Given the description of an element on the screen output the (x, y) to click on. 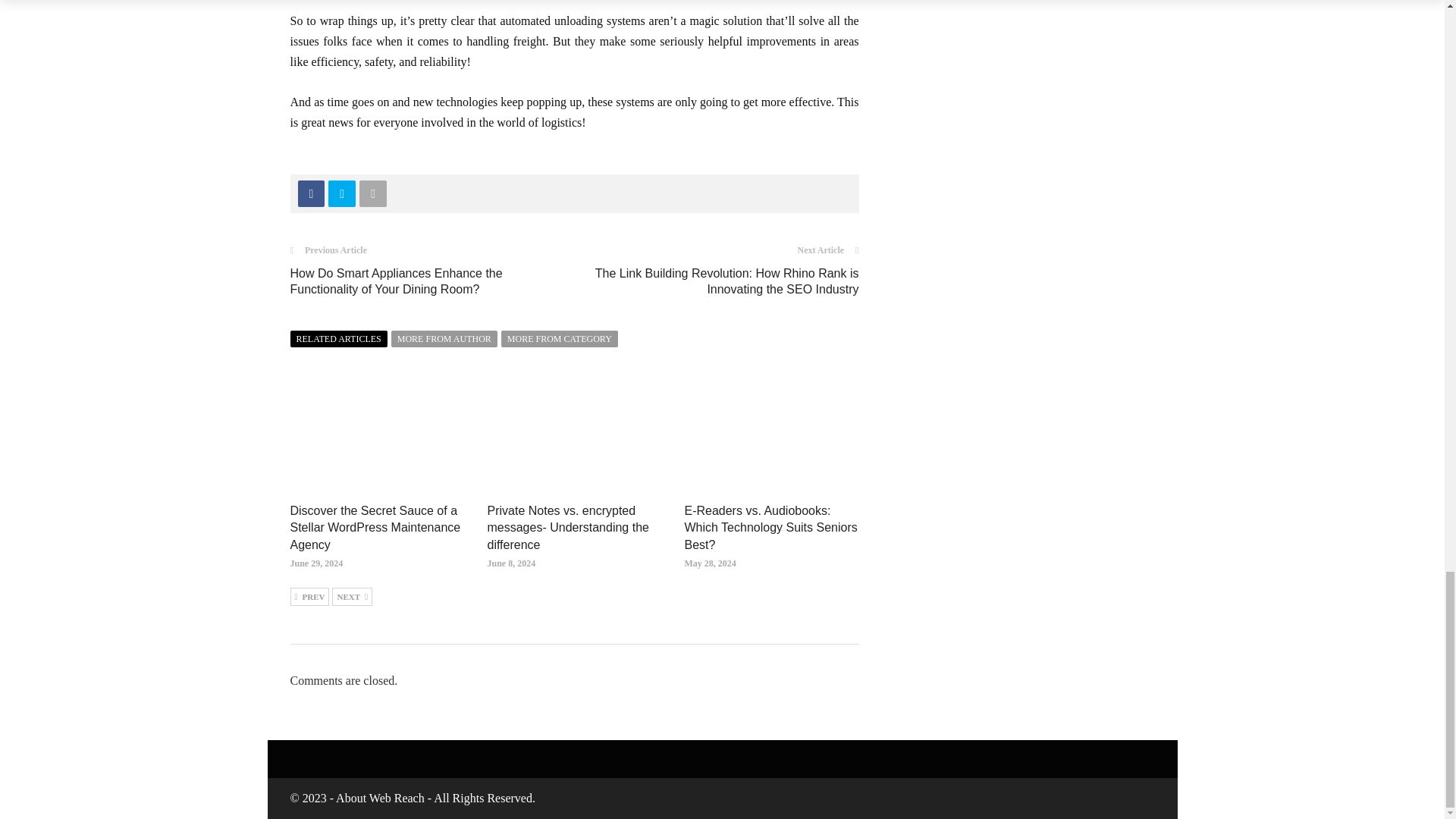
Previous (309, 597)
Next (351, 597)
